Given the description of an element on the screen output the (x, y) to click on. 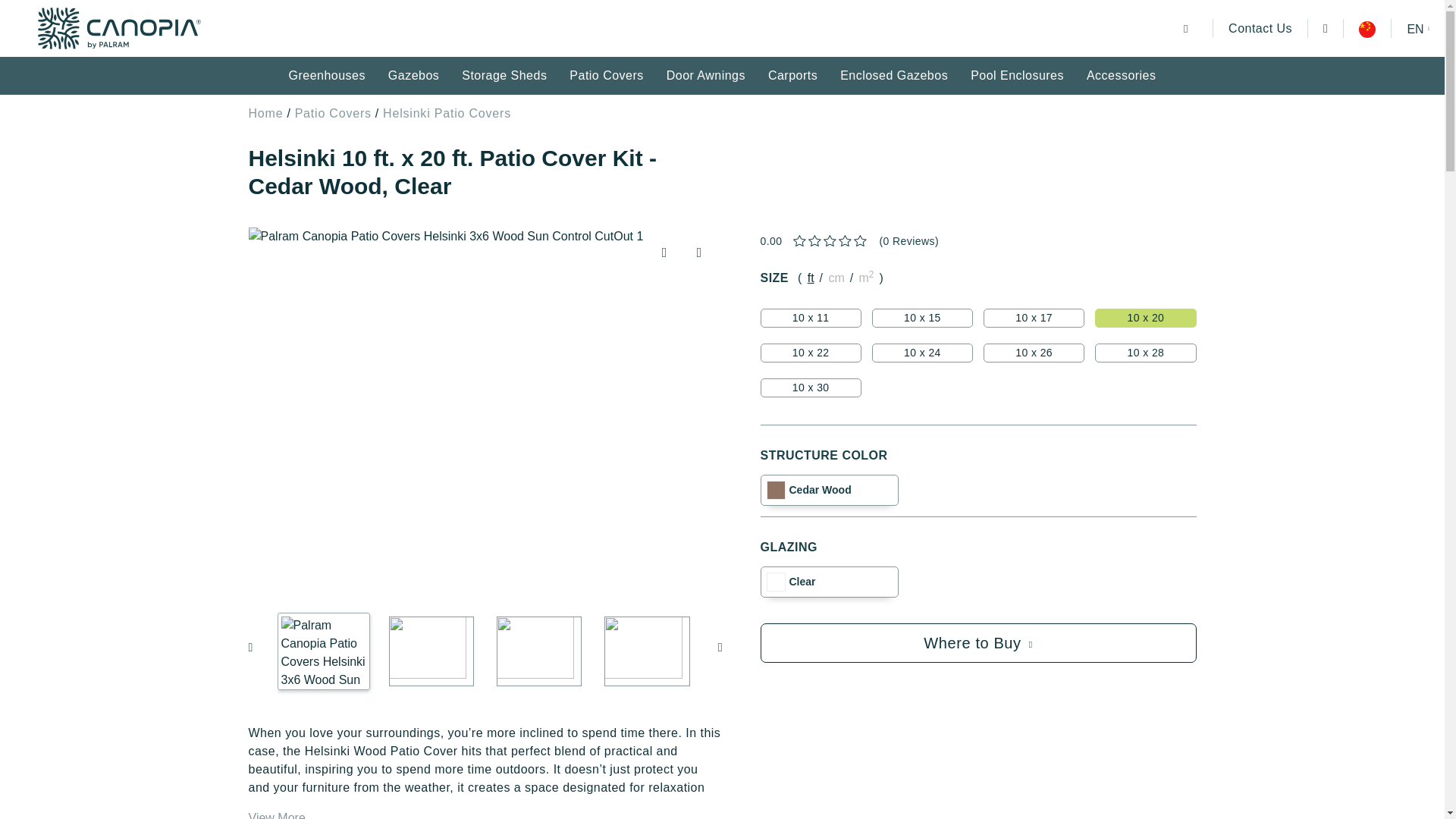
Door Awnings (706, 75)
Helsinki Patio Covers. (446, 113)
Patio Covers. (333, 113)
Canopia (118, 28)
Greenhouses (327, 75)
Wishlist (1324, 27)
Contact Us (1259, 27)
Gazebos (413, 75)
Patio Covers (605, 75)
Home. (265, 113)
Storage Sheds (503, 75)
